Given the description of an element on the screen output the (x, y) to click on. 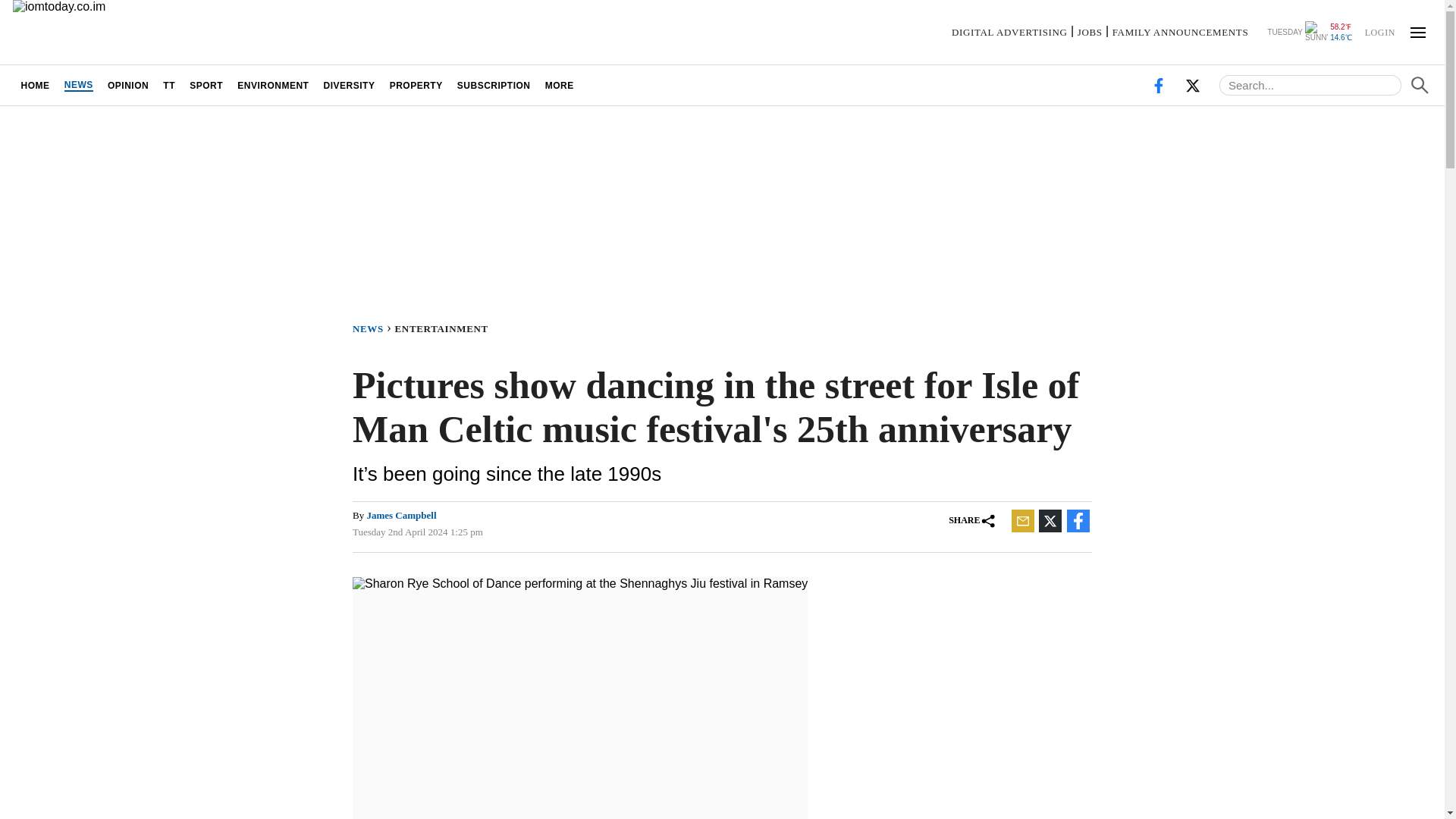
LOGIN (1379, 31)
PROPERTY (415, 85)
SPORT (206, 85)
DIVERSITY (348, 85)
HOME (34, 85)
MORE (558, 85)
NEWS (78, 85)
NEWS (373, 328)
FAMILY ANNOUNCEMENTS (1180, 32)
ENTERTAINMENT (444, 328)
SUBSCRIPTION (493, 85)
ENVIRONMENT (272, 85)
OPINION (127, 85)
James Campbell (400, 514)
